Given the description of an element on the screen output the (x, y) to click on. 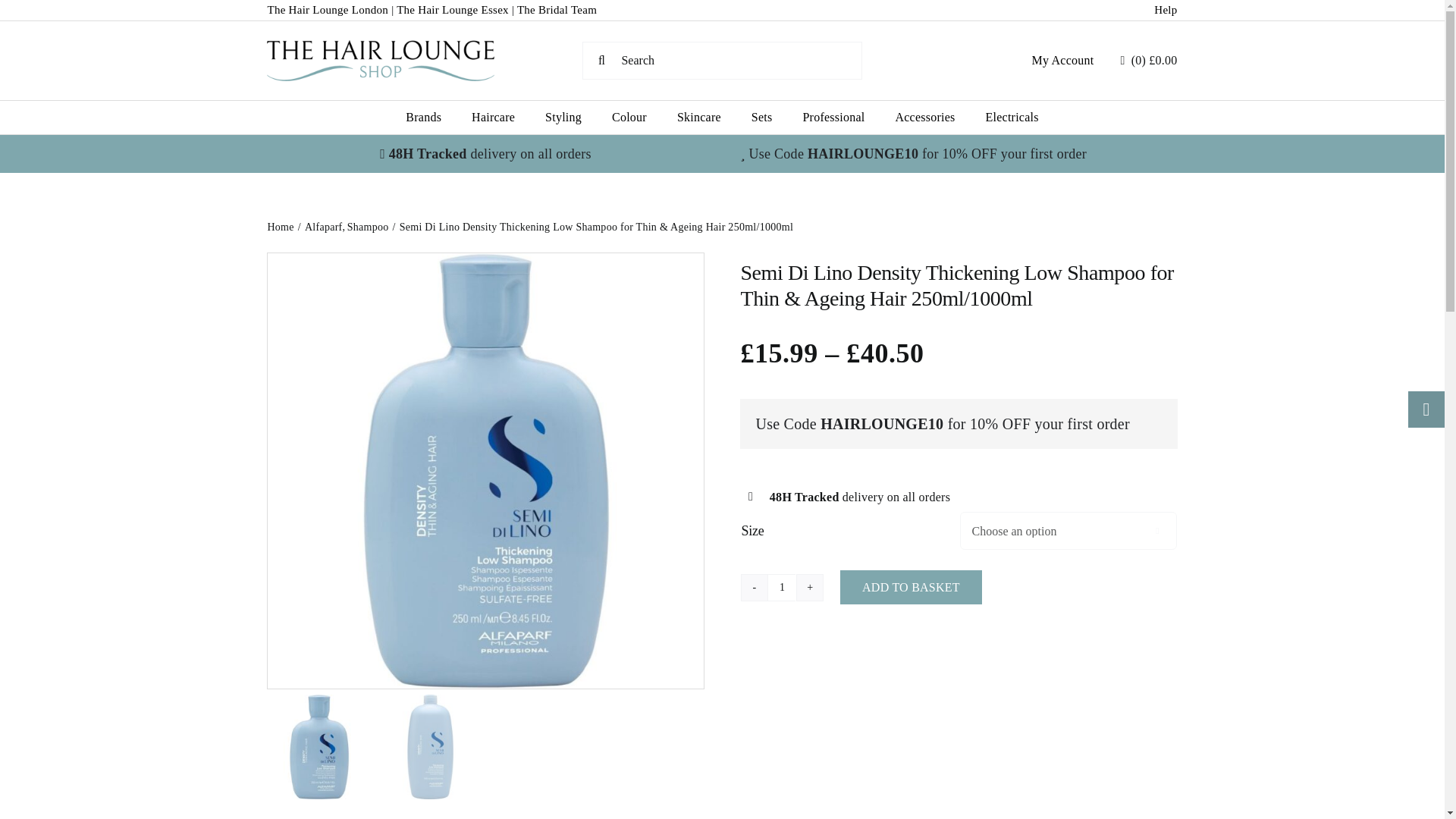
The Hair Lounge Essex (452, 9)
Styling (563, 117)
Haircare (492, 117)
The Bridal Team (556, 9)
Help (1165, 9)
Start shopping (1147, 60)
- (754, 587)
The Hair Lounge London (327, 9)
Brands (423, 117)
Log In (1060, 233)
My Account (1062, 60)
1 (781, 587)
Colour (628, 117)
